Given the description of an element on the screen output the (x, y) to click on. 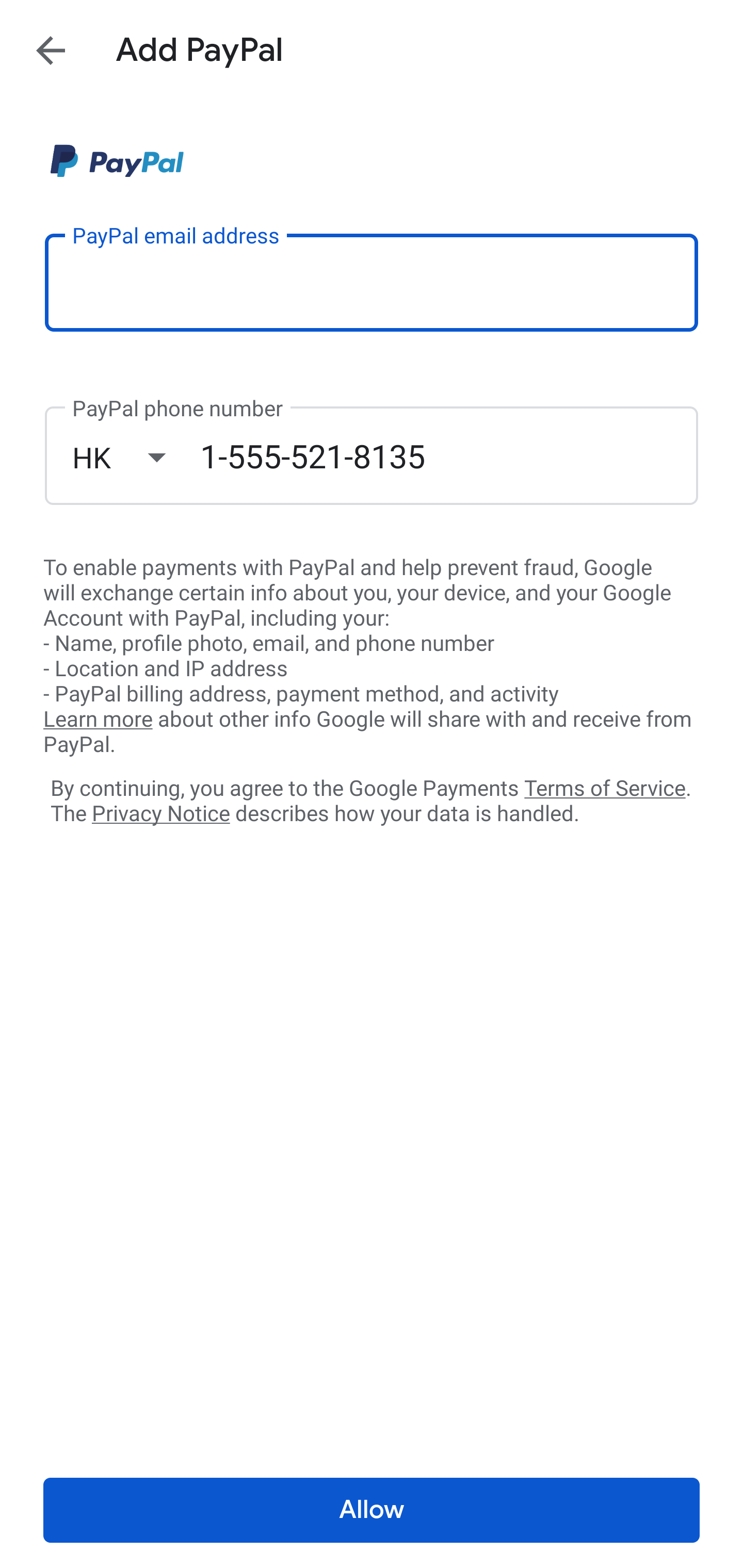
Navigate up (50, 50)
PayPal email address (371, 282)
HK (135, 456)
Learn more (97, 719)
Terms of Service (604, 787)
Privacy Notice (160, 814)
Allow (371, 1510)
